Given the description of an element on the screen output the (x, y) to click on. 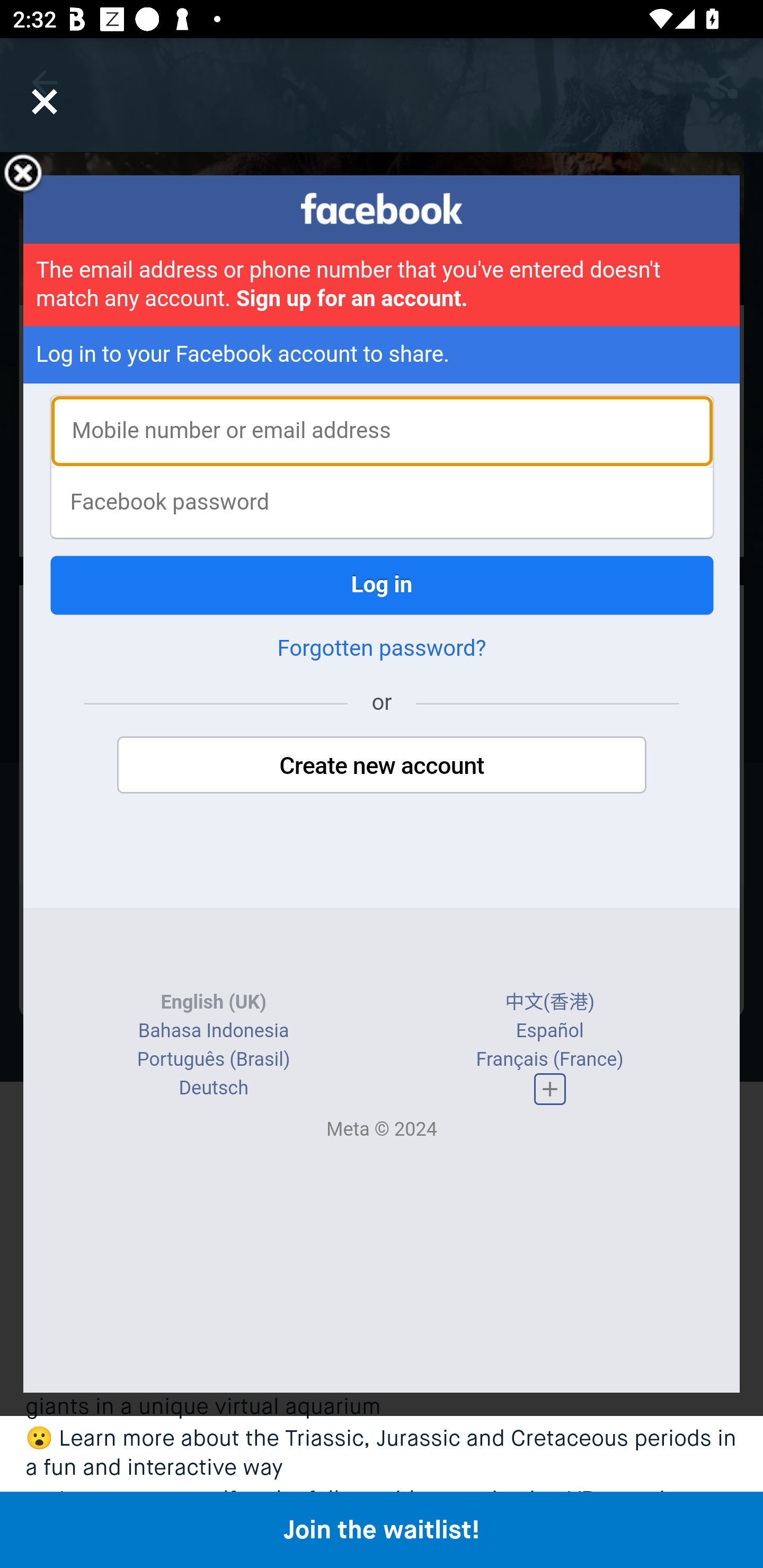
facebook (381, 208)
Sign up for an account. (351, 298)
Log in (381, 585)
Forgotten password? (381, 648)
Create new account (381, 764)
中文(香港) (550, 1002)
Bahasa Indonesia (214, 1030)
Español (549, 1030)
Português (Brasil) (212, 1058)
Français (France) (549, 1058)
Complete list of languages (548, 1088)
Deutsch (212, 1087)
